Given the description of an element on the screen output the (x, y) to click on. 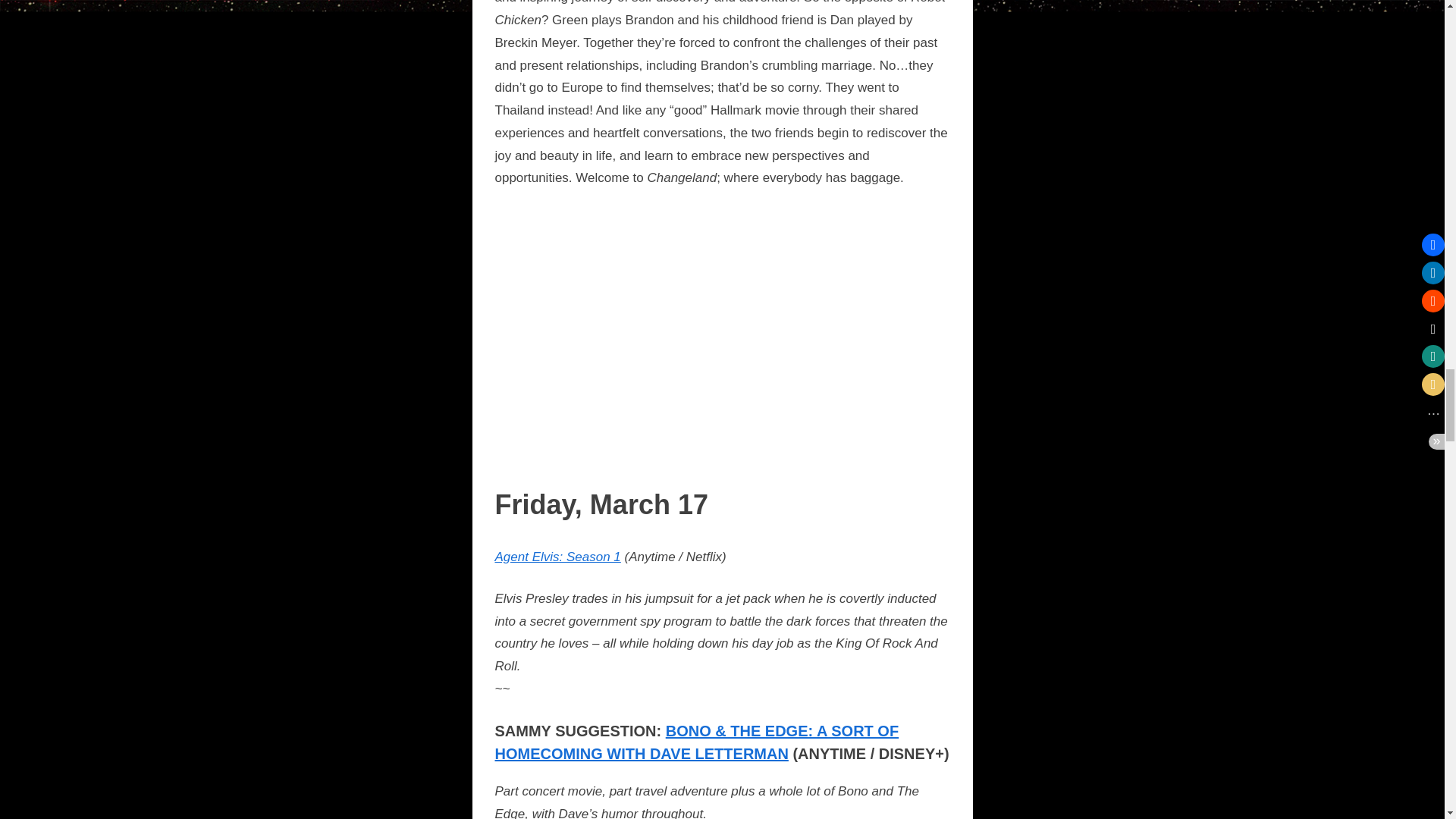
Agent Elvis: Season 1 (557, 556)
